Given the description of an element on the screen output the (x, y) to click on. 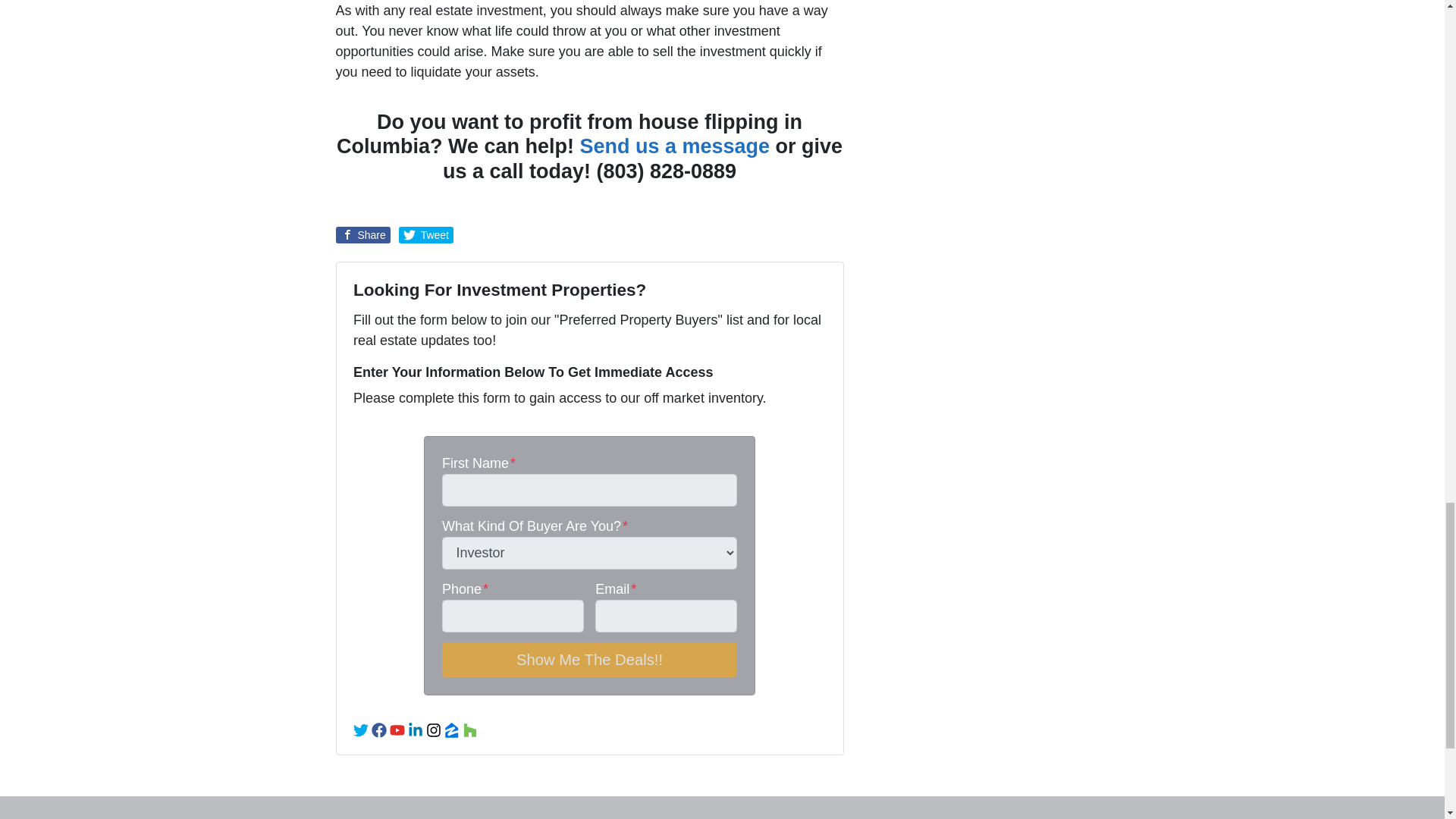
Tweet (425, 234)
YouTube (397, 729)
LinkedIn (415, 729)
Twitter (360, 729)
Facebook (379, 729)
Share (362, 234)
Show Me The Deals!!  (589, 659)
Instagram (433, 729)
Houzz (470, 729)
Send us a message (674, 146)
Share on Facebook (362, 234)
Zillow (452, 729)
Show Me The Deals!!  (589, 659)
Share on Twitter (425, 234)
